Given the description of an element on the screen output the (x, y) to click on. 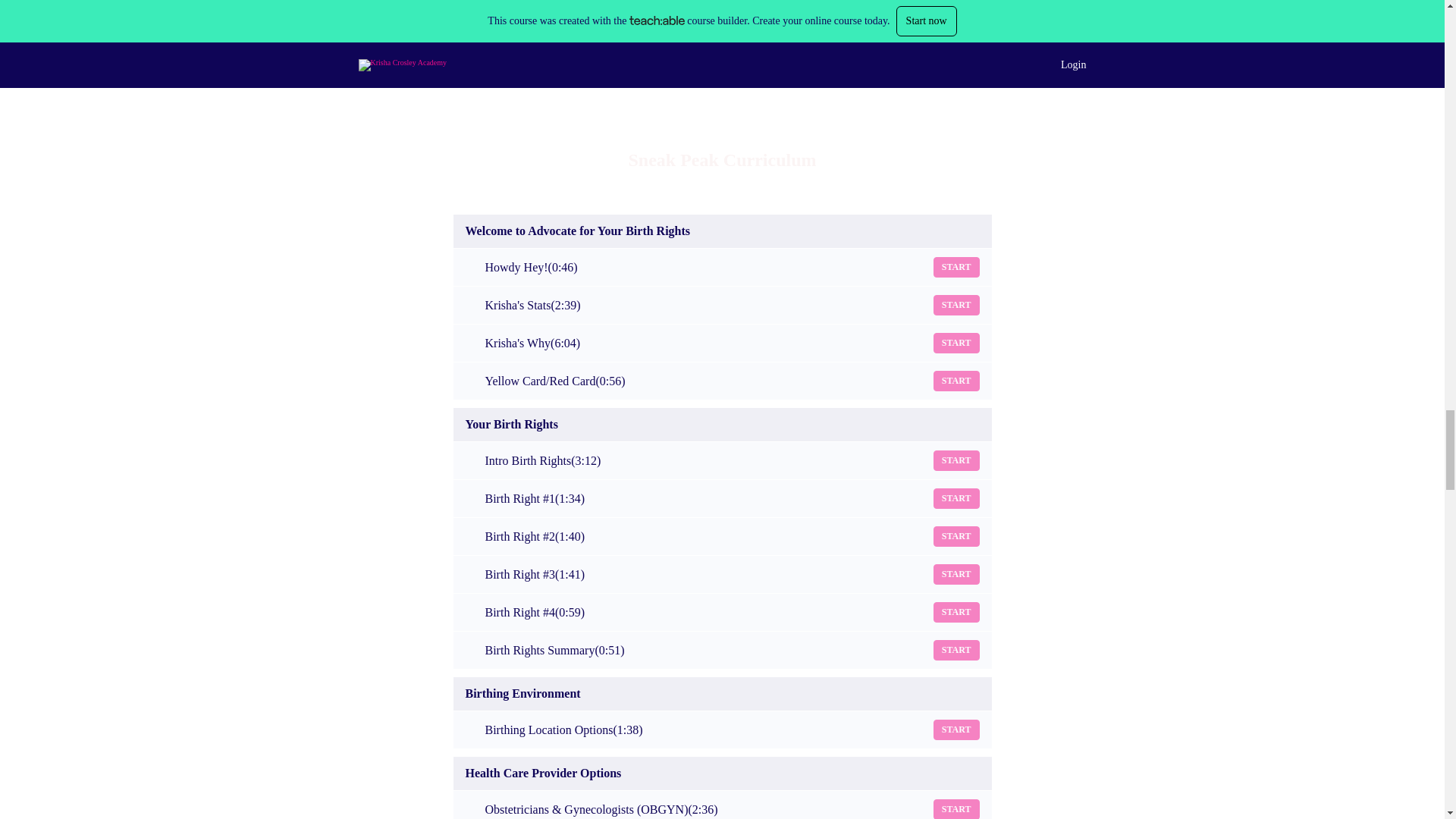
START (956, 729)
START (956, 574)
START (956, 381)
START (956, 611)
START (956, 536)
START (956, 342)
START (956, 460)
START (956, 304)
START (956, 809)
START (956, 649)
